Given the description of an element on the screen output the (x, y) to click on. 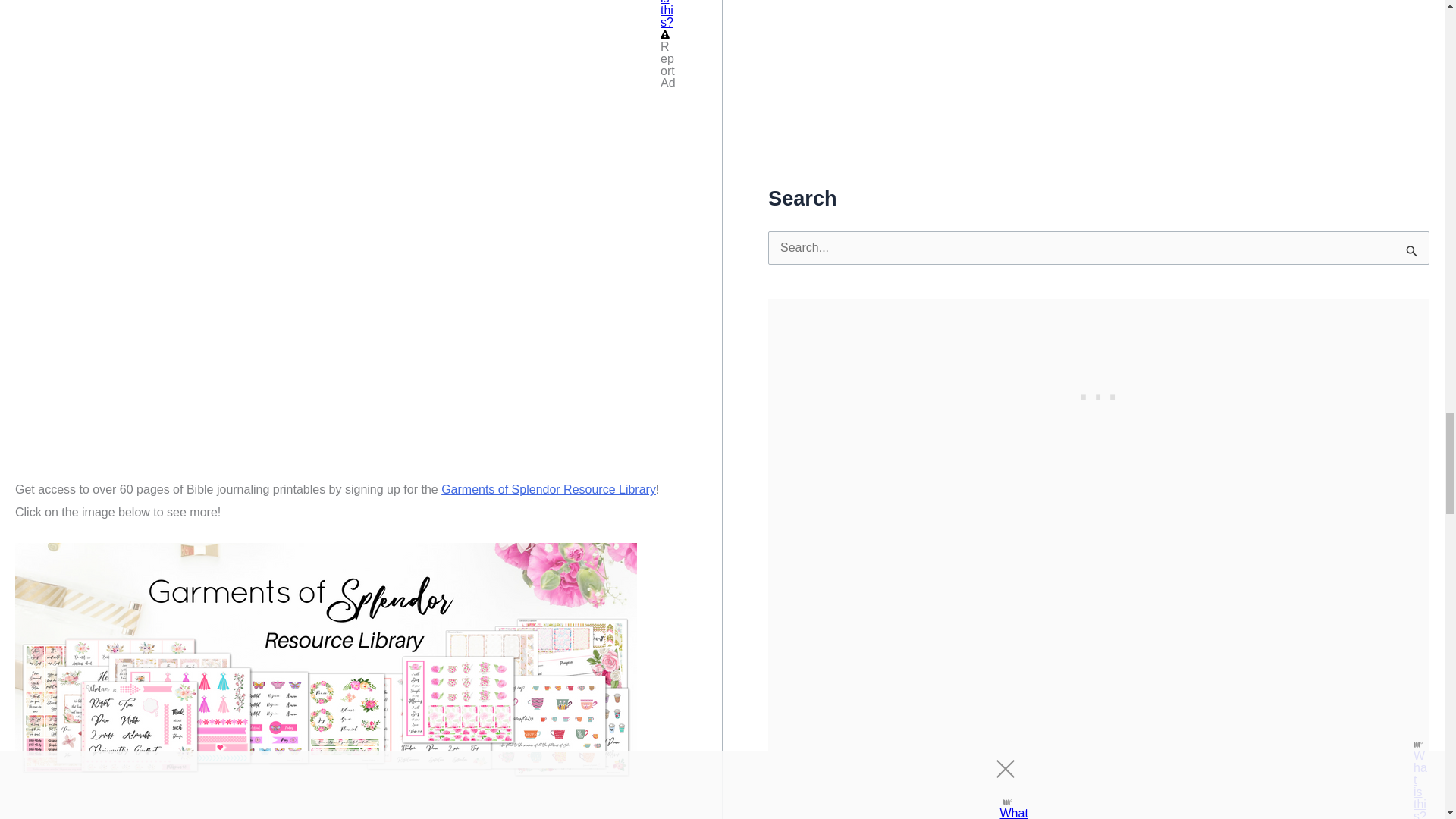
3rd party ad content (1098, 393)
